Given the description of an element on the screen output the (x, y) to click on. 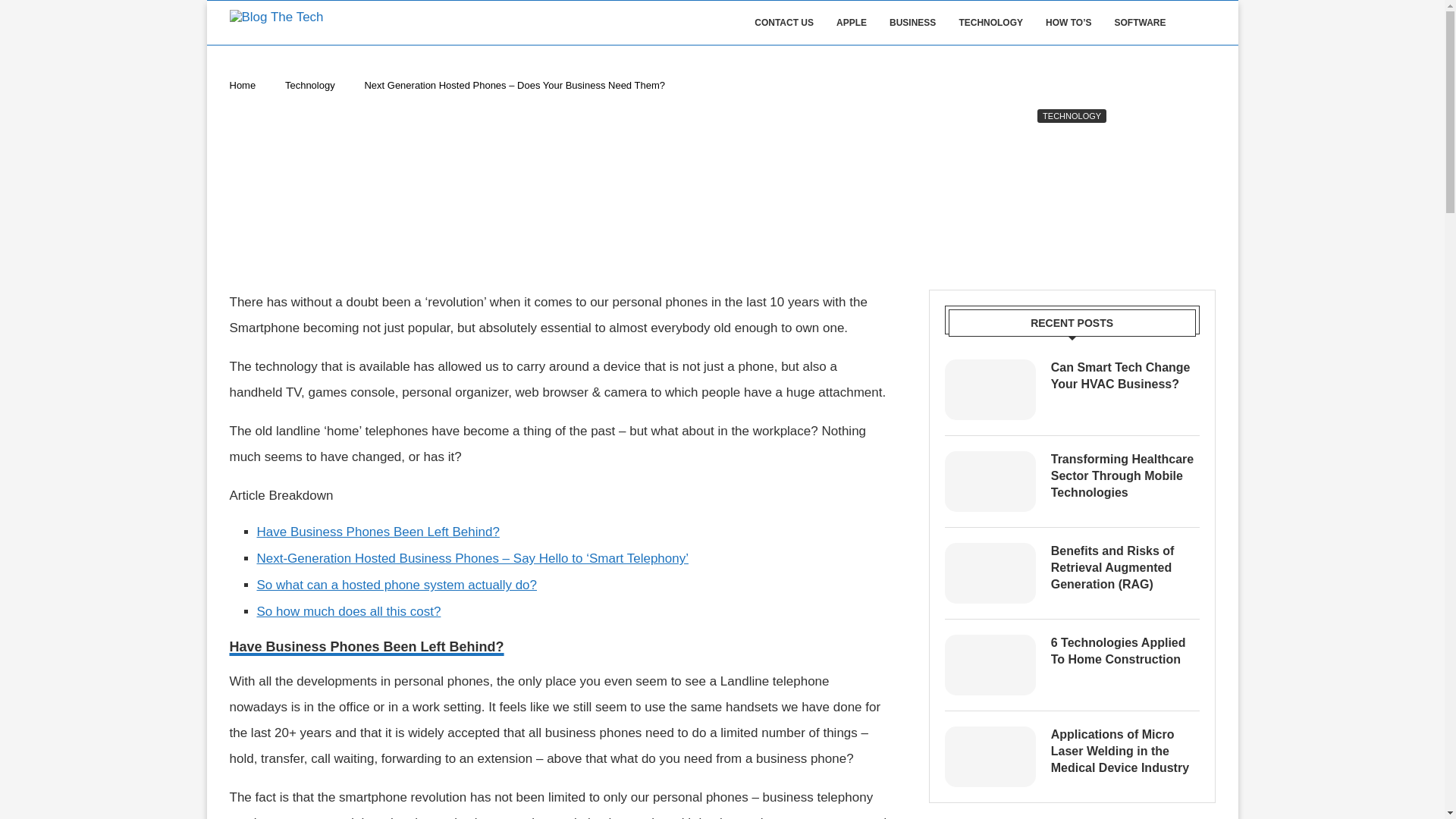
So what can a hosted phone system actually do? (396, 585)
TECHNOLOGY (1071, 115)
So what can a hosted phone system actually do? (396, 585)
Transforming Healthcare Sector Through Mobile Technologies (1125, 476)
Transforming Healthcare Sector Through Mobile Technologies (989, 481)
BUSINESS (912, 22)
CONTACT US (783, 22)
So how much does all this cost? (348, 611)
Home (242, 84)
Technology (309, 84)
6 Technologies Applied To Home Construction (1125, 651)
Have Business Phones Been Left Behind? (377, 531)
So how much does all this cost? (348, 611)
